Given the description of an element on the screen output the (x, y) to click on. 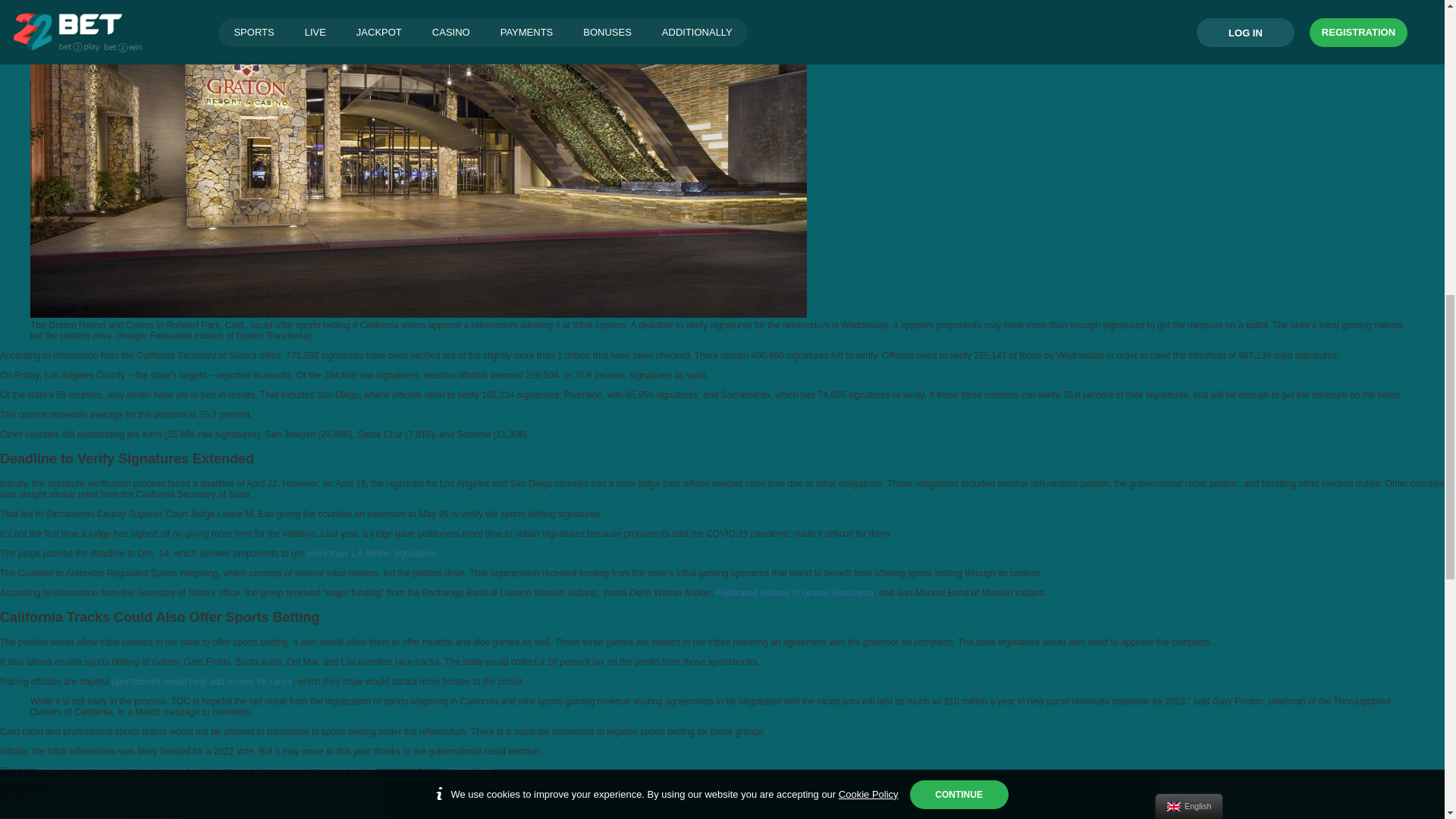
News (60, 790)
Search (158, 818)
Search (158, 818)
sportsbooks would help add money for races (202, 681)
Federated Indians of Graton Rancheria (793, 593)
Casino.org (470, 770)
more than 1.4 million signatures. (371, 552)
